Given the description of an element on the screen output the (x, y) to click on. 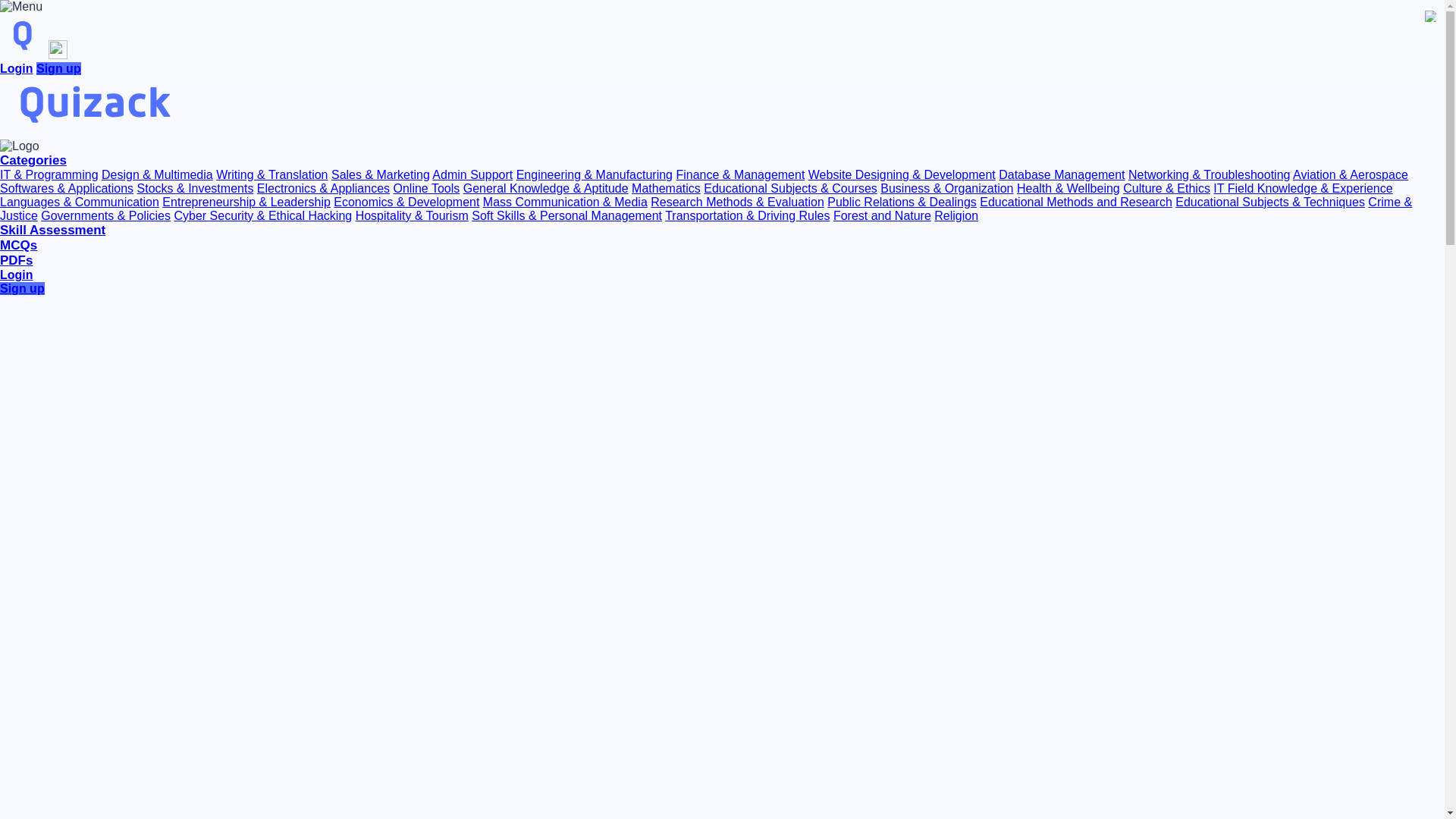
Login (16, 68)
Mathematics (665, 187)
Online Tools (426, 187)
Admin Support (472, 174)
Online Tools (426, 187)
Database Management (1061, 174)
Admin Support (472, 174)
Sign up (58, 68)
Educational Methods and Research (1075, 201)
Database Management (1061, 174)
Mathematics (665, 187)
Categories (33, 160)
